Given the description of an element on the screen output the (x, y) to click on. 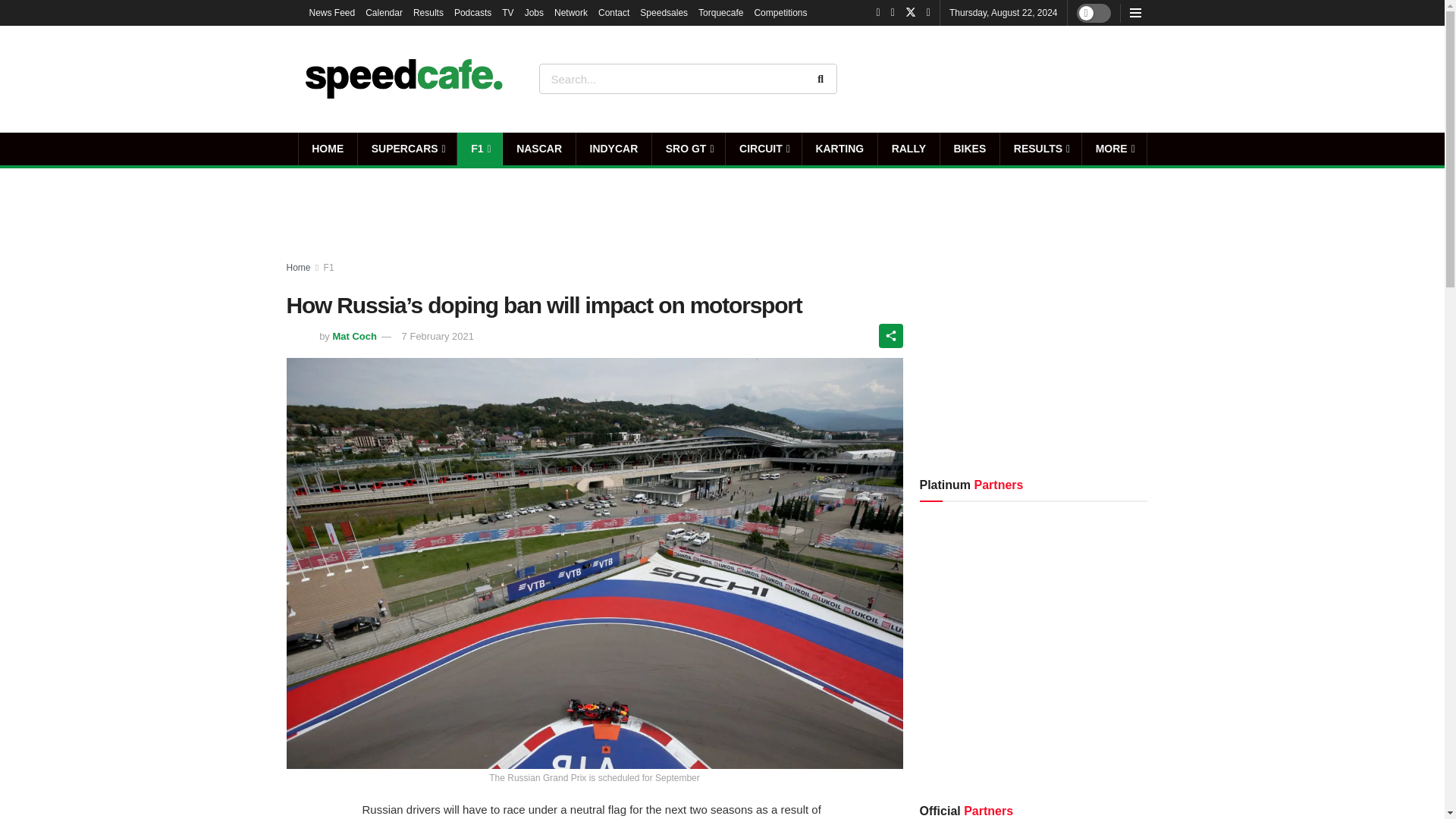
News Feed (331, 12)
Speedsales (663, 12)
Calendar (384, 12)
INDYCAR (613, 148)
Michelin (1089, 646)
Podcasts (473, 12)
Torquecafe (720, 12)
F1 (479, 148)
NASCAR (538, 148)
February 7, 2021 11:33 am (427, 336)
